Given the description of an element on the screen output the (x, y) to click on. 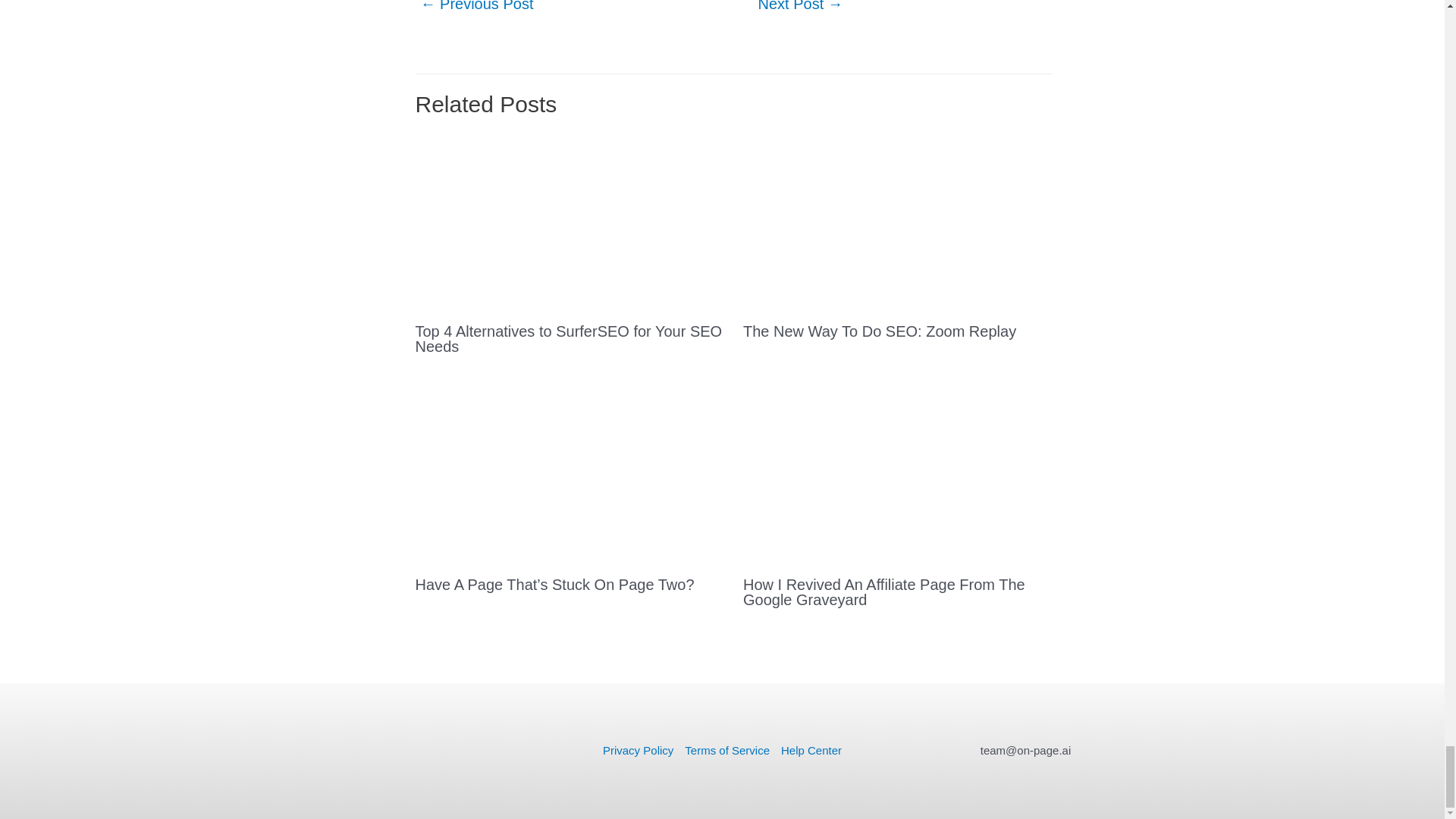
Privacy Policy (640, 750)
Top 4 Alternatives to SurferSEO for Your SEO Needs (568, 338)
Help Center (807, 750)
How I Revived An Affiliate Page From The Google Graveyard (883, 592)
Terms of Service (727, 750)
The New Way To Do SEO: Zoom Replay (879, 330)
